Given the description of an element on the screen output the (x, y) to click on. 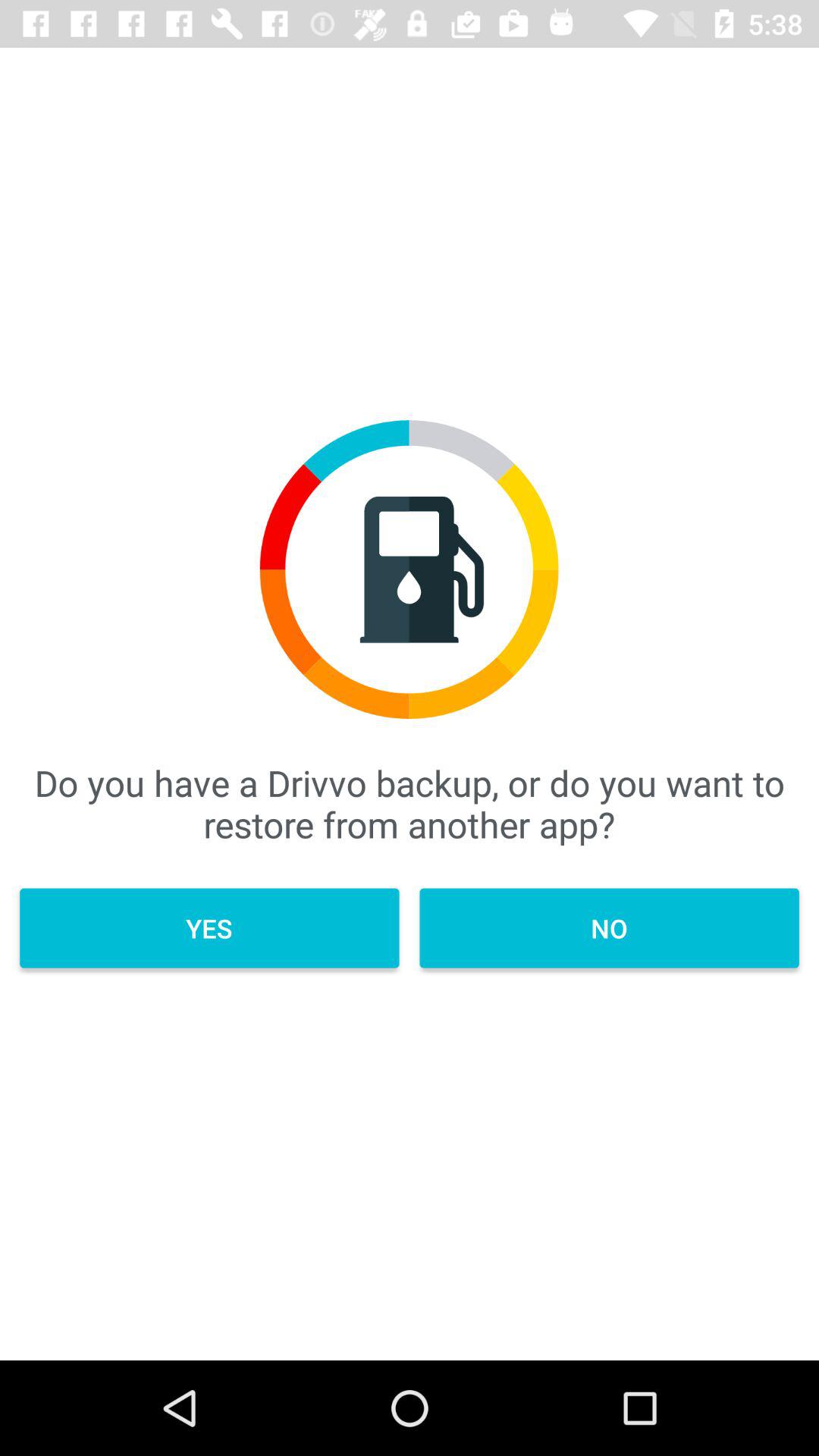
turn on no on the right (609, 928)
